Given the description of an element on the screen output the (x, y) to click on. 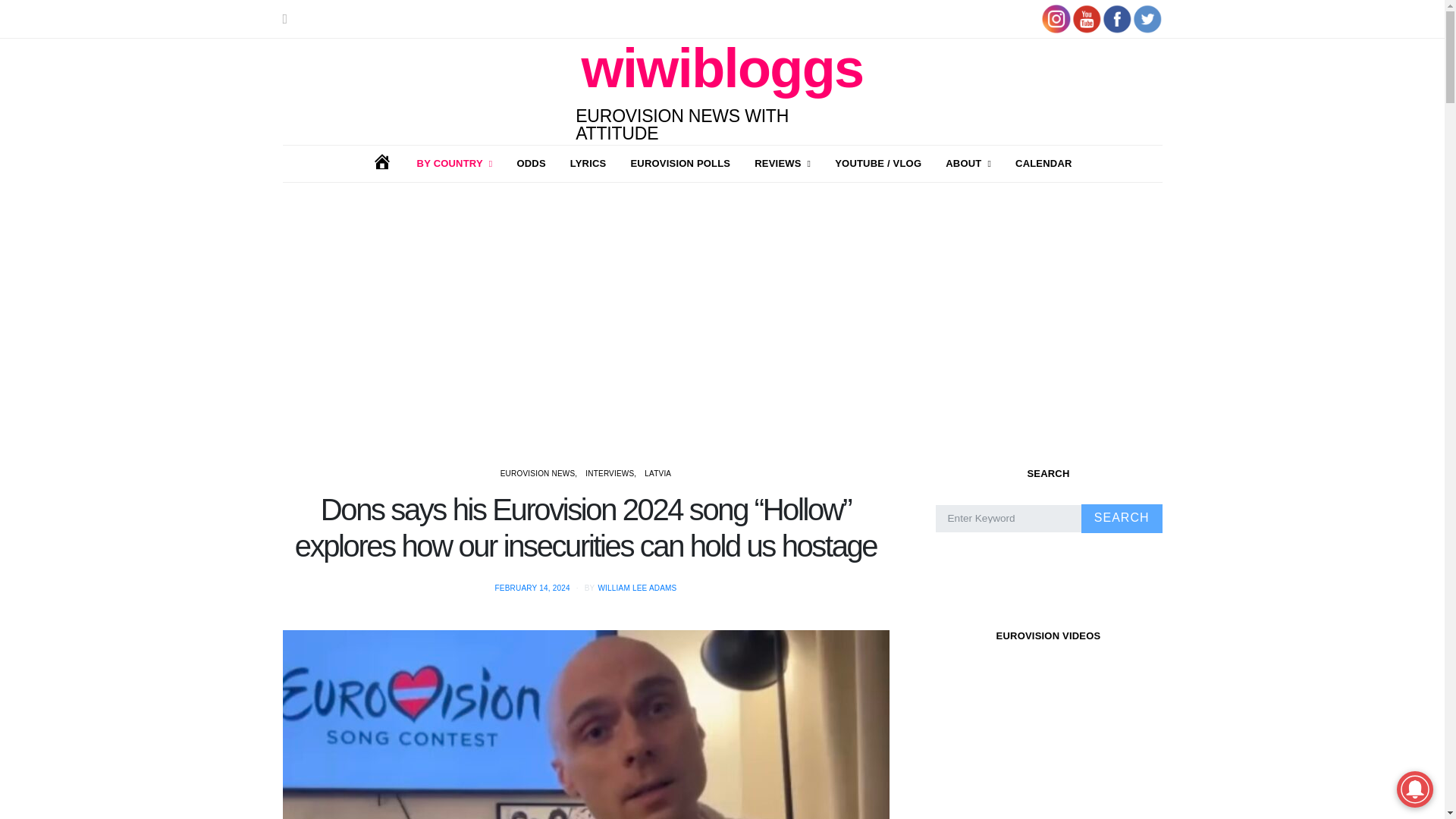
About wiwibloggs (967, 163)
View all posts by William Lee Adams (636, 587)
Eurovision (454, 163)
Eurovision and National Finals (782, 163)
